Given the description of an element on the screen output the (x, y) to click on. 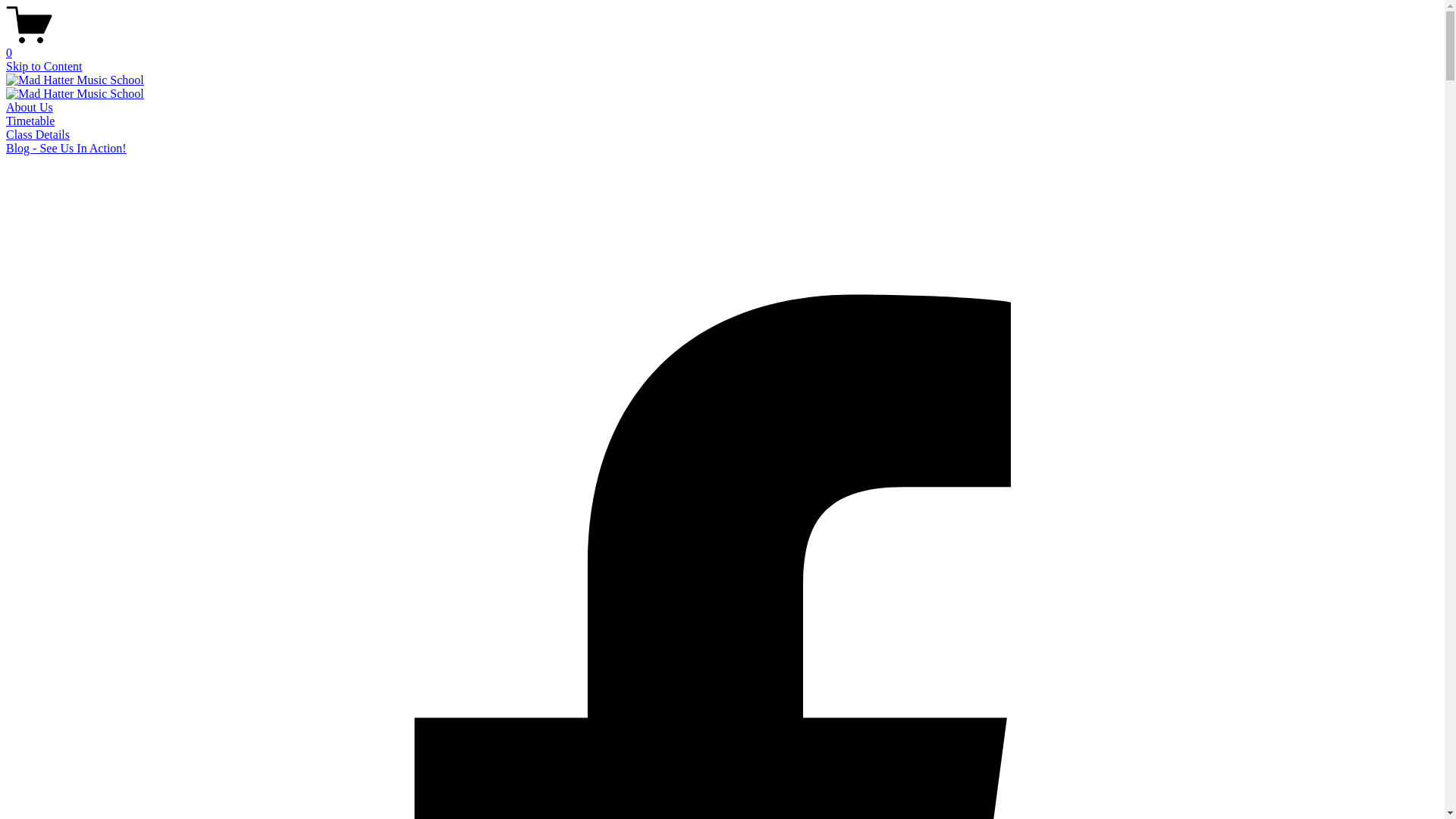
Blog - See Us In Action! Element type: text (66, 147)
About Us Element type: text (29, 106)
Class Details Element type: text (37, 134)
0 Element type: text (722, 45)
Timetable Element type: text (30, 120)
Skip to Content Element type: text (43, 65)
